Given the description of an element on the screen output the (x, y) to click on. 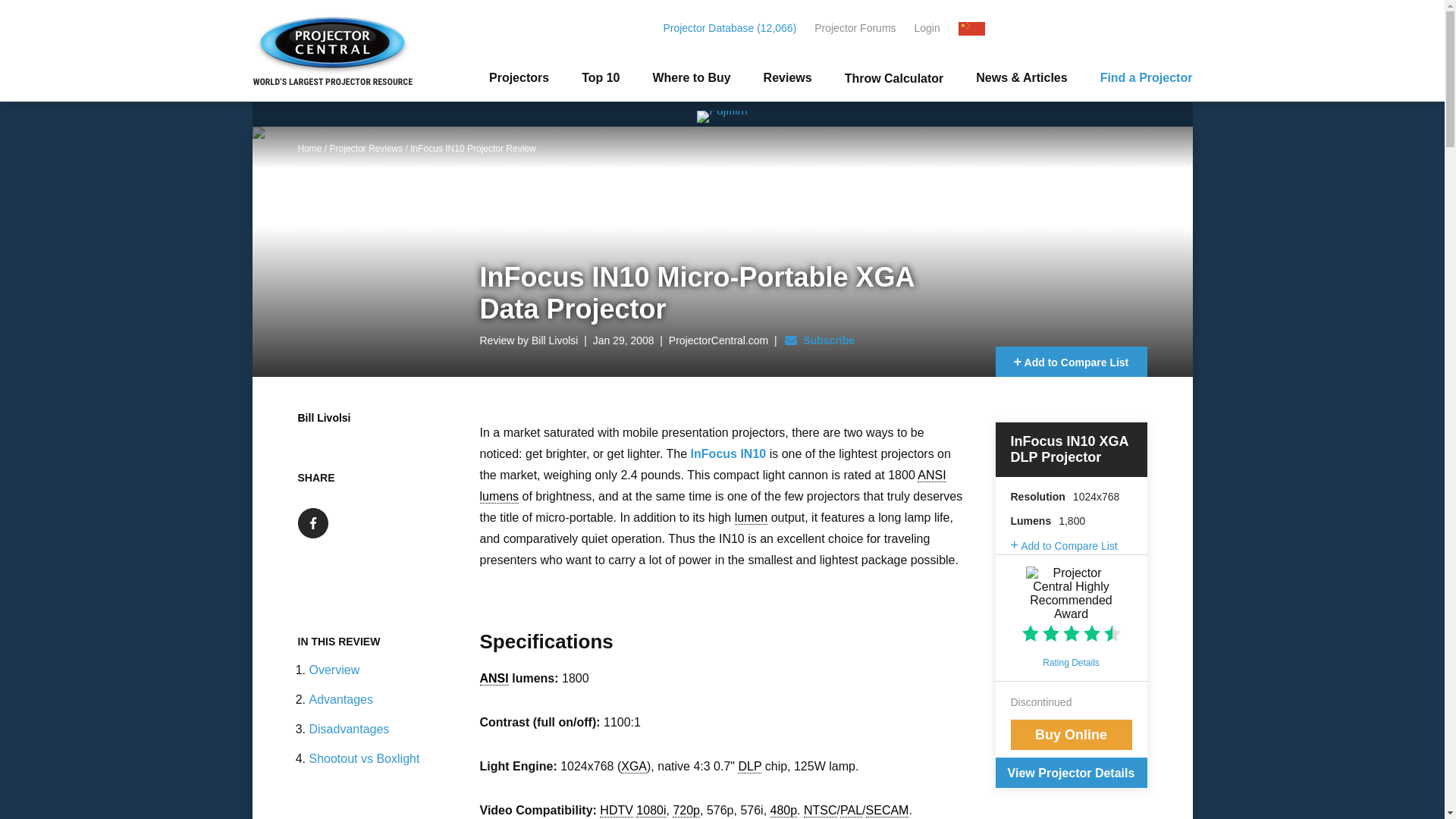
Projector Advice Forums (862, 28)
Search our Projector Database to find projectors by feature (736, 28)
